Given the description of an element on the screen output the (x, y) to click on. 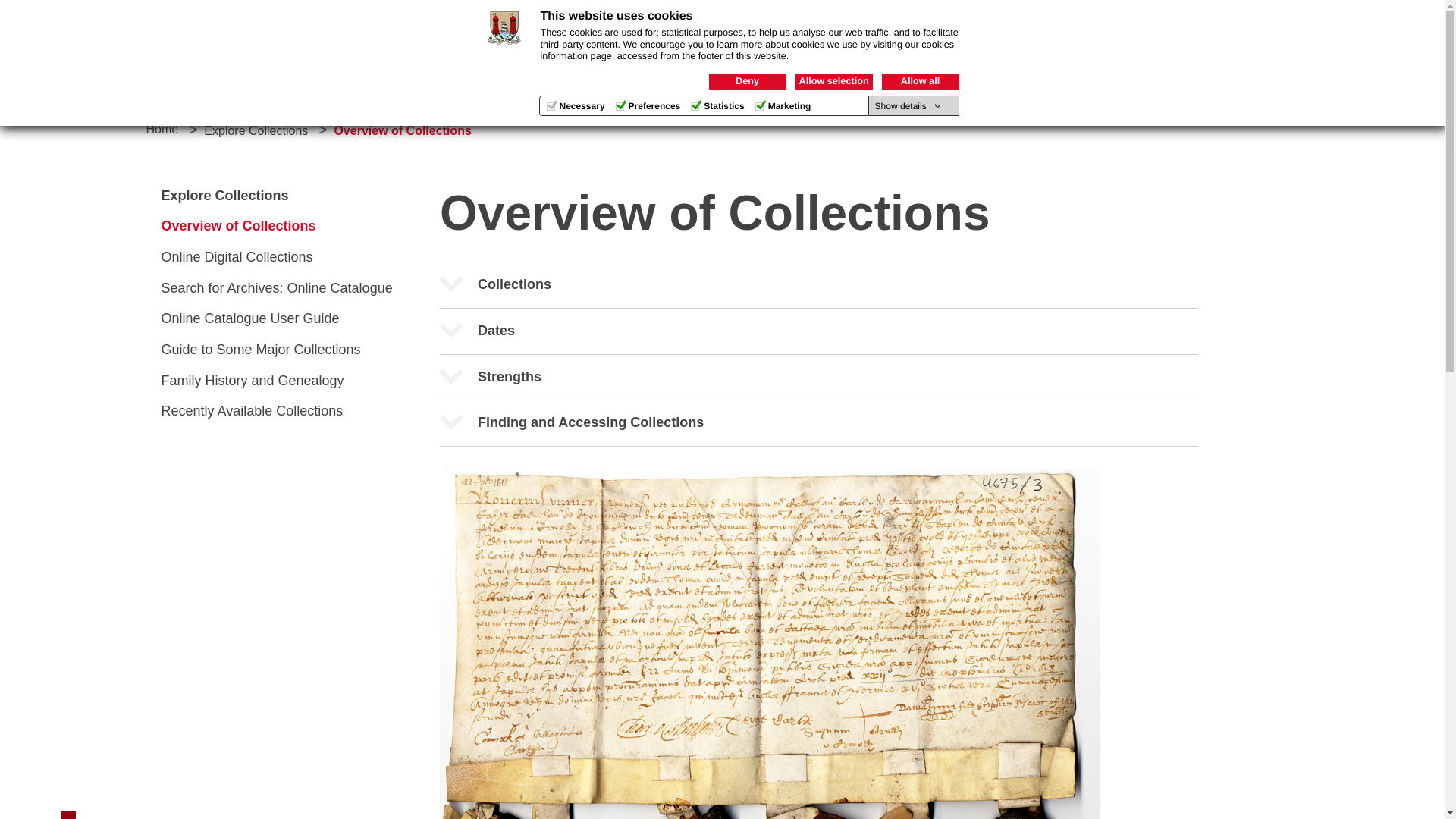
Allow all (919, 81)
Explore Collections (499, 92)
Allow selection (833, 81)
OVERVIEW OF COLLECTIONS (1180, 40)
Show details (908, 105)
Deny (746, 81)
